Given the description of an element on the screen output the (x, y) to click on. 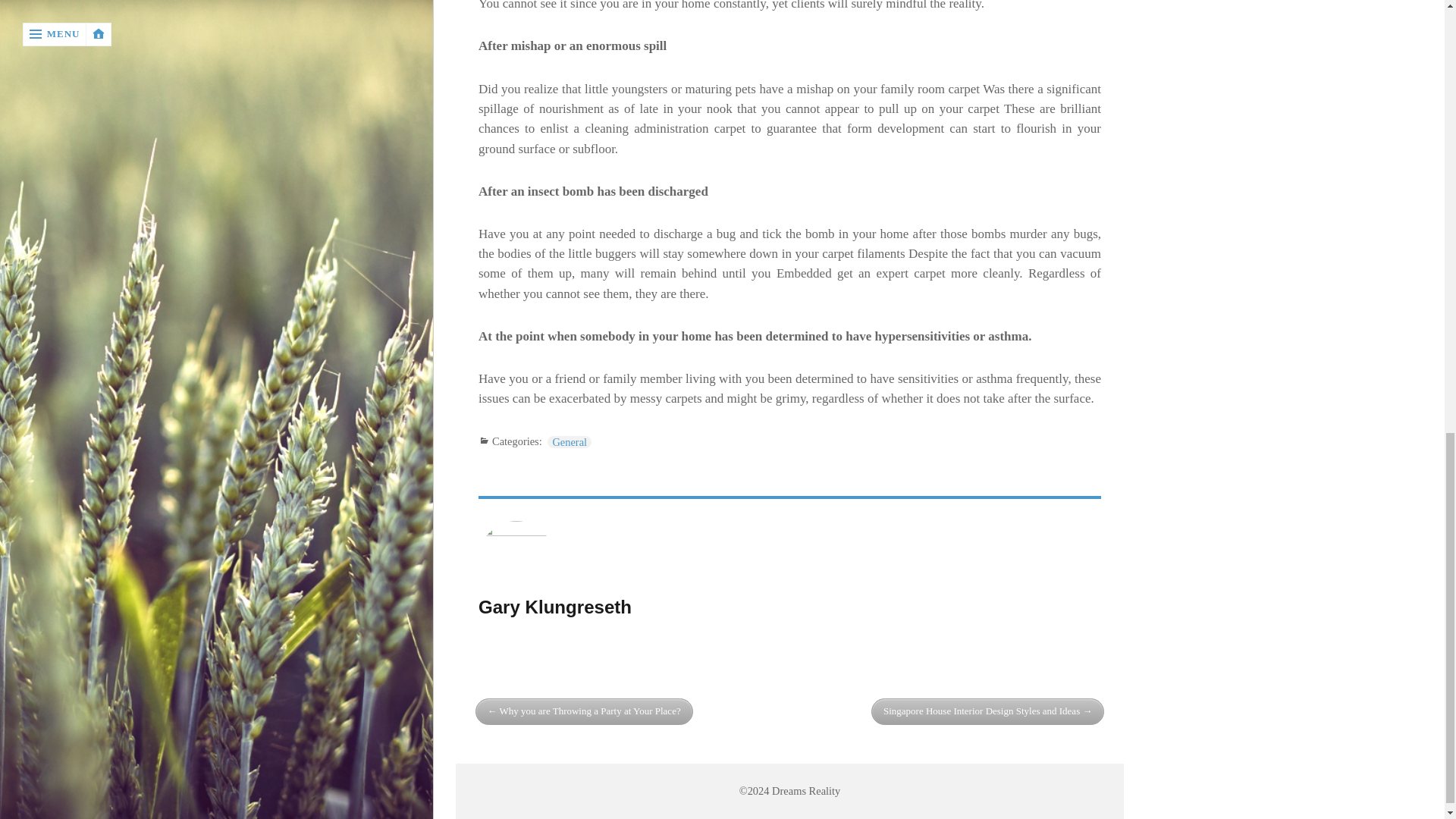
Singapore House Interior Design Styles and Ideas (986, 711)
General (569, 441)
Why you are Throwing a Party at Your Place? (584, 711)
